Given the description of an element on the screen output the (x, y) to click on. 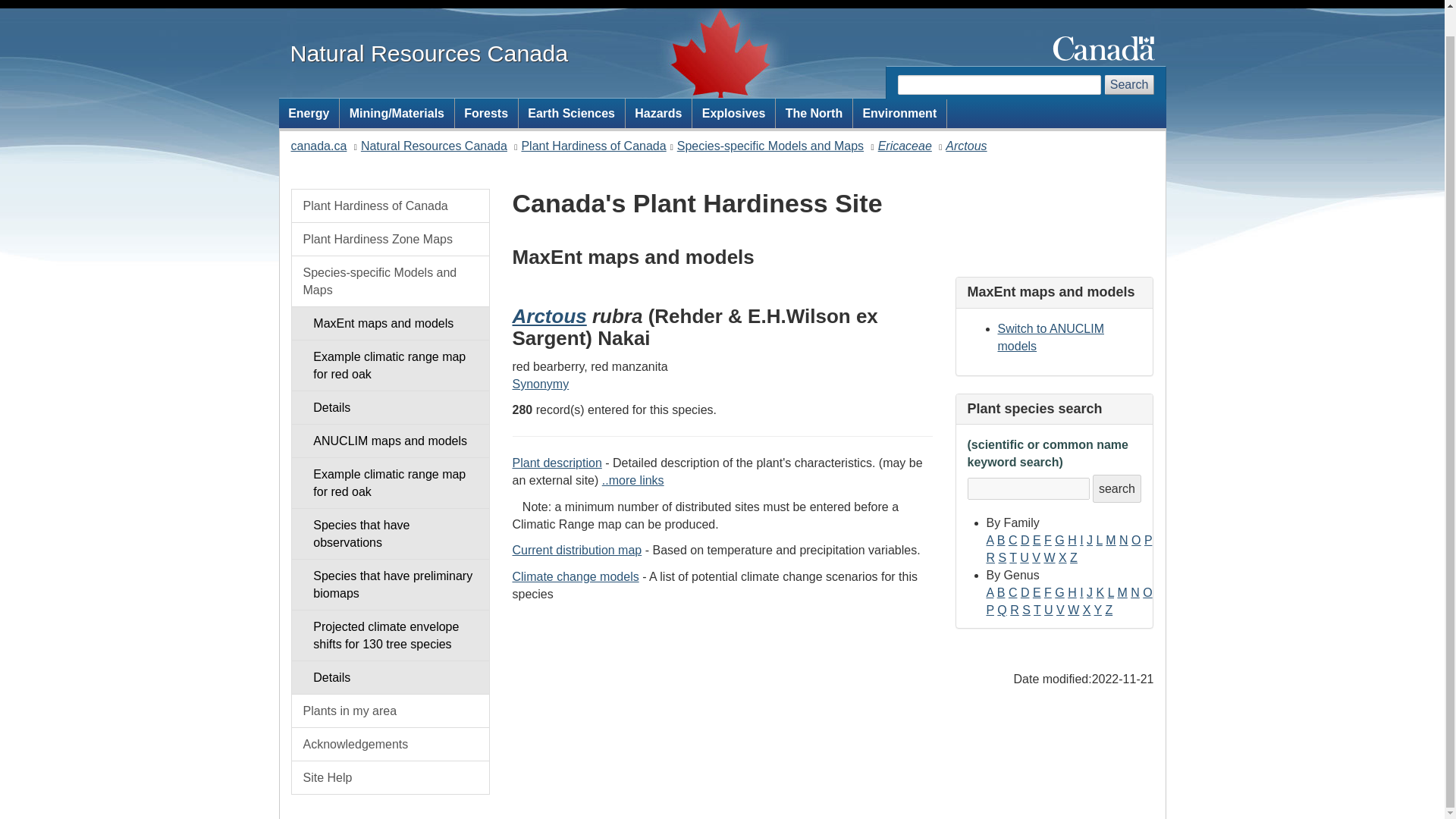
Earth Sciences (571, 112)
Current distribution map (577, 549)
canada.ca (319, 145)
Species-specific Models and Maps (770, 145)
The North (813, 112)
Forests (486, 112)
Hazards (659, 112)
Switch to ANUCLIM models (1050, 337)
Climate change models (575, 576)
Plant description (557, 462)
Synonymy (540, 383)
Explosives (733, 112)
..more links (632, 480)
Plant Hardiness of Canada (593, 145)
Search (1129, 85)
